Given the description of an element on the screen output the (x, y) to click on. 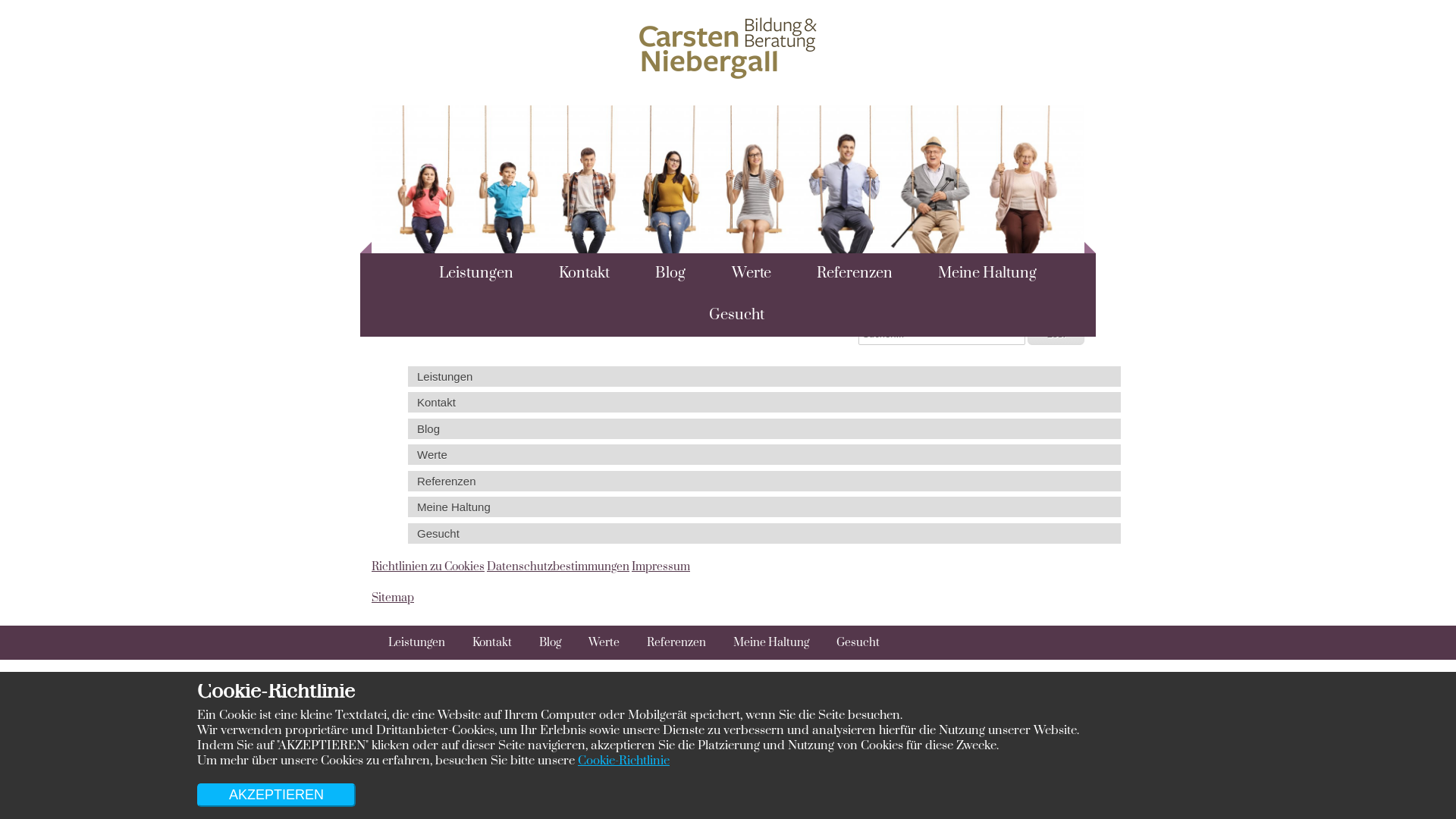
Referenzen Element type: text (763, 480)
Datenschutzbestimmungen Element type: text (557, 566)
Impressum Element type: text (660, 566)
Referenzen Element type: text (668, 642)
Blog Element type: text (661, 273)
Gesucht Element type: text (763, 533)
Werte Element type: text (595, 642)
Meine Haltung Element type: text (763, 506)
Meine Haltung Element type: text (762, 642)
Cookie-Richtlinie Element type: text (623, 760)
Blog Element type: text (763, 428)
Werte Element type: text (742, 273)
Leistungen Element type: text (465, 273)
Kontakt Element type: text (483, 642)
Leistungen Element type: text (763, 376)
Los! Element type: text (1055, 334)
Referenzen Element type: text (846, 273)
Kontakt Element type: text (575, 273)
Blog Element type: text (541, 642)
Gesucht Element type: text (849, 642)
Werte Element type: text (763, 454)
Gesucht Element type: text (727, 315)
Meine Haltung Element type: text (978, 273)
AKZEPTIEREN Element type: text (276, 794)
Sitemap Element type: text (392, 597)
Leistungen Element type: text (407, 642)
Richtlinien zu Cookies Element type: text (427, 566)
Kontakt Element type: text (763, 402)
